Given the description of an element on the screen output the (x, y) to click on. 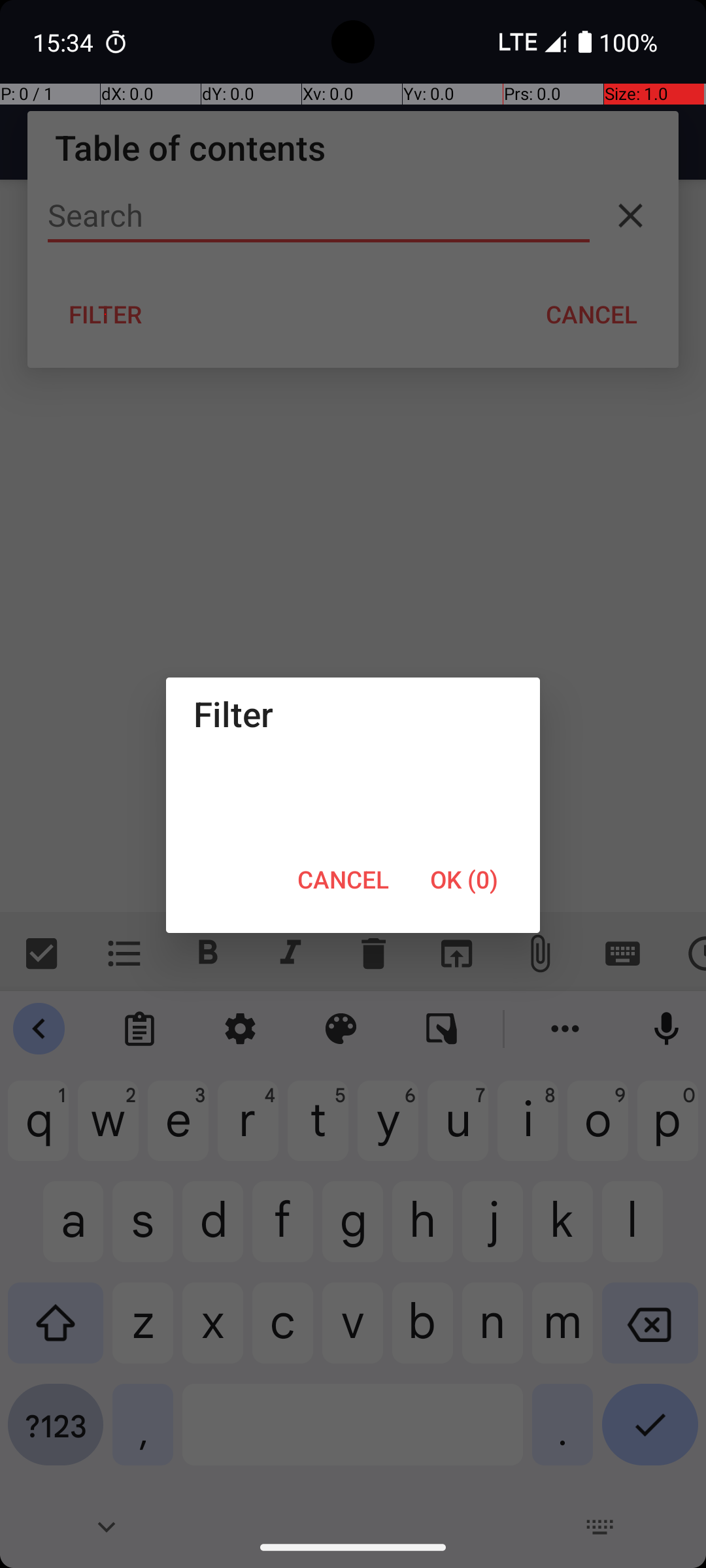
OK (0) Element type: android.widget.Button (464, 879)
